Given the description of an element on the screen output the (x, y) to click on. 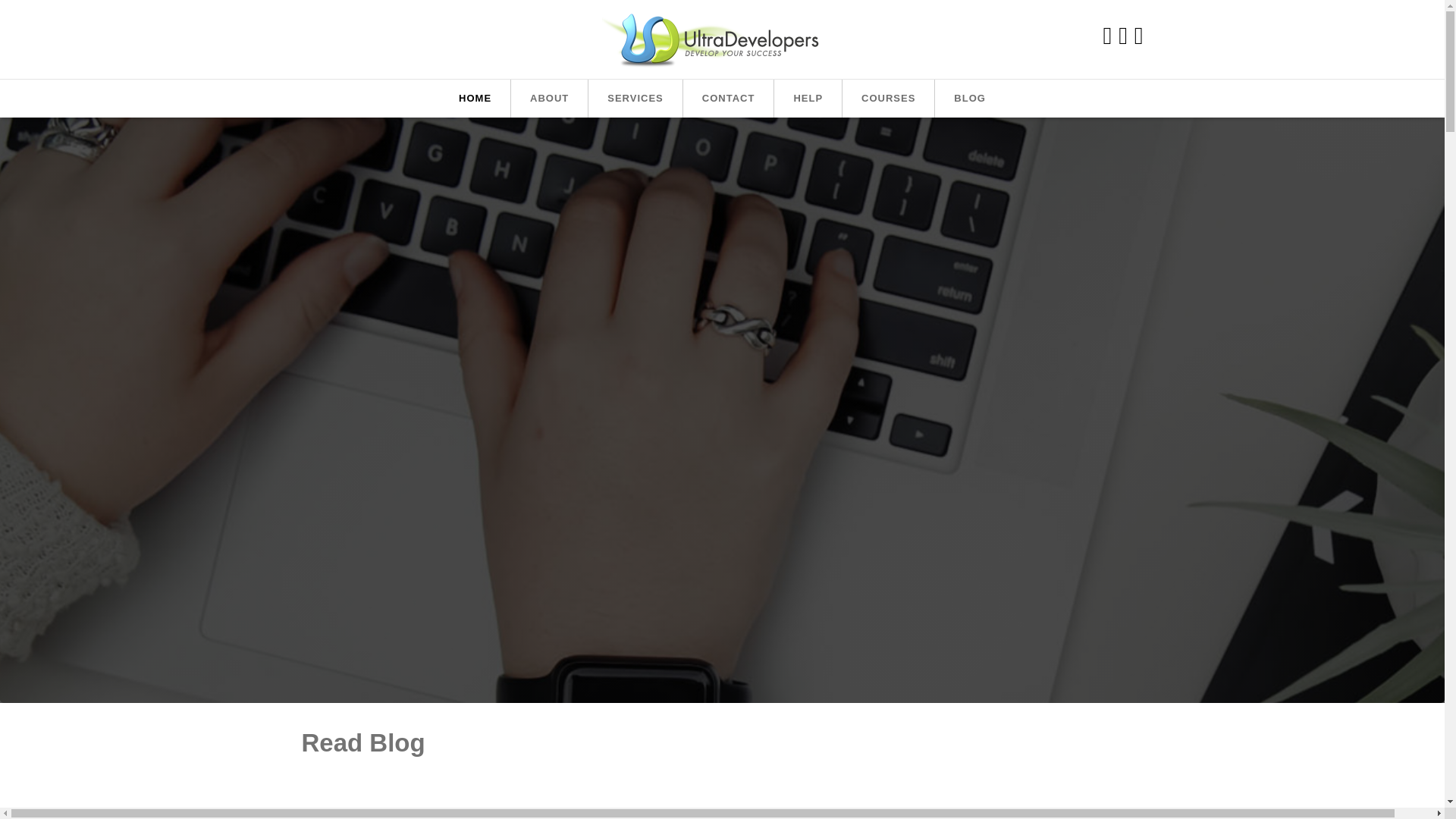
HELP (807, 98)
CONTACT (728, 98)
BLOG (969, 98)
SERVICES (635, 98)
HOME (475, 98)
COURSES (888, 98)
ABOUT (549, 98)
